Given the description of an element on the screen output the (x, y) to click on. 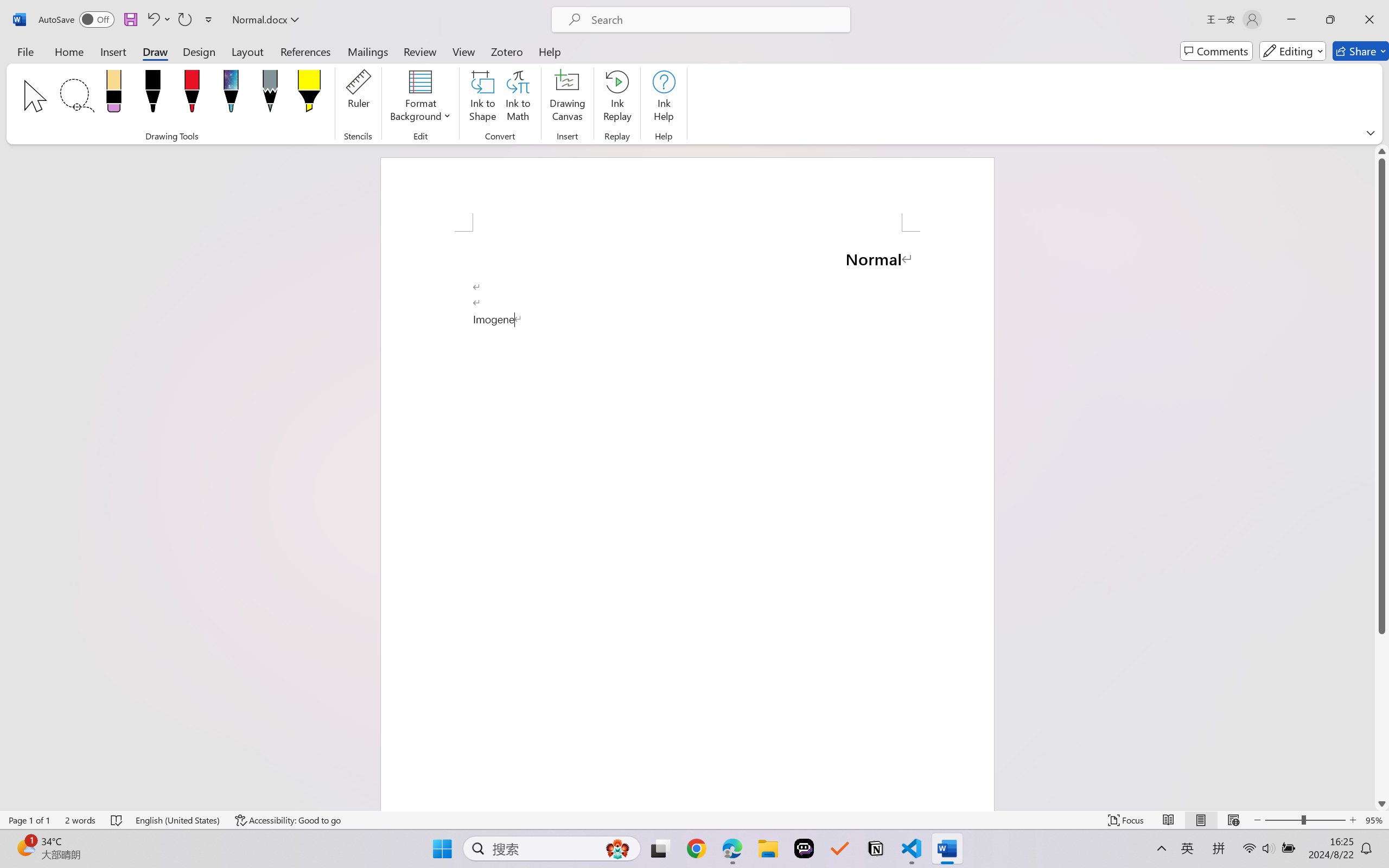
Help (549, 51)
Format Background (420, 97)
Line down (1382, 803)
Ruler (358, 97)
Page 1 content (687, 520)
